Given the description of an element on the screen output the (x, y) to click on. 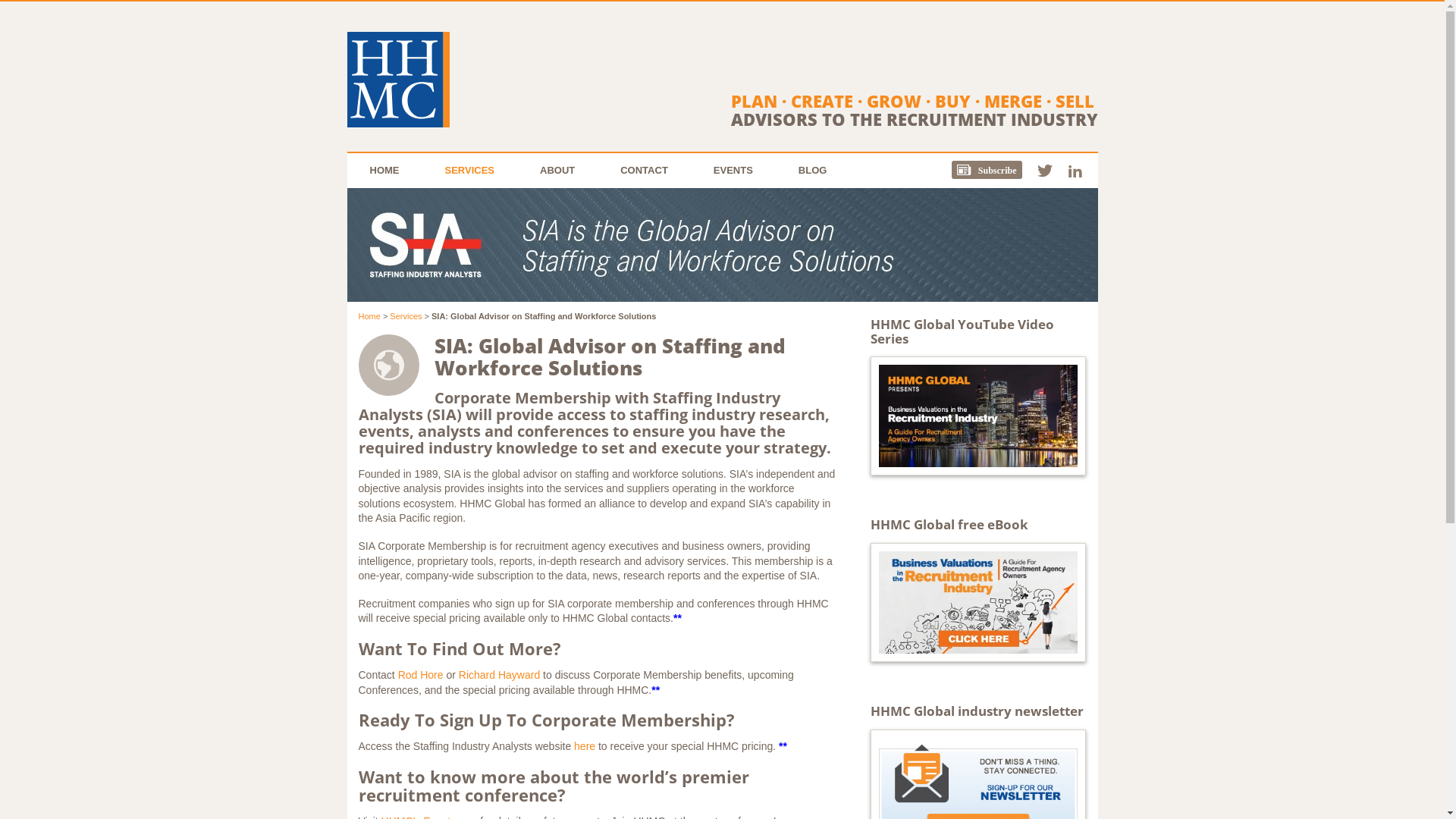
Subscribe Element type: text (994, 170)
ABOUT Element type: text (557, 170)
BLOG Element type: text (812, 170)
Services Element type: text (405, 315)
here Element type: text (584, 746)
Home Element type: text (368, 315)
Rod Hore Element type: text (420, 674)
EVENTS Element type: text (732, 170)
CONTACT Element type: text (643, 170)
SERVICES Element type: text (469, 170)
CRO Element type: hover (398, 79)
Richard Hayward Element type: text (498, 674)
HOME Element type: text (384, 170)
